Given the description of an element on the screen output the (x, y) to click on. 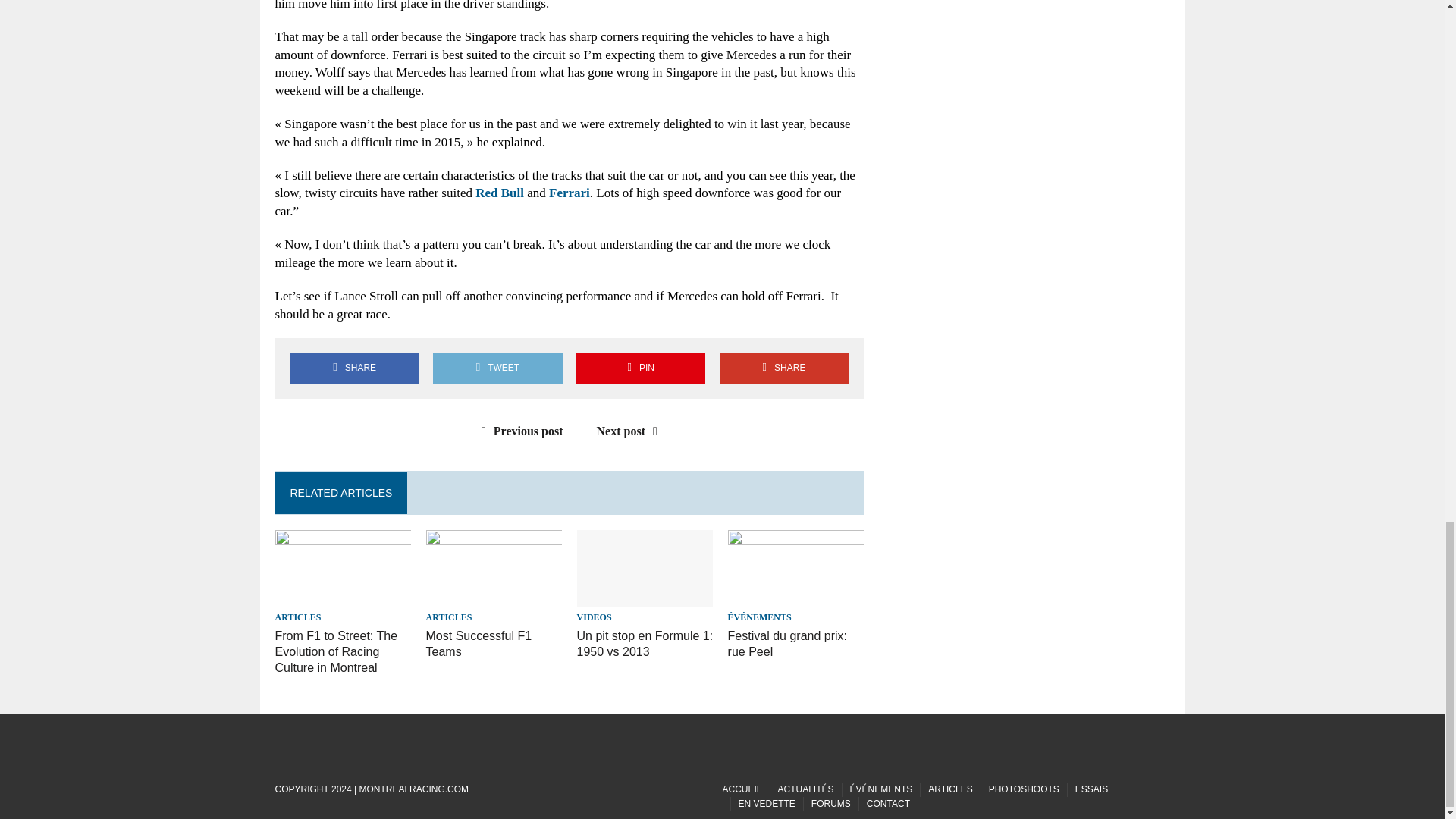
Un pit stop en Formule 1: 1950 vs 2013 (644, 643)
Previous post (518, 431)
SHARE (354, 367)
Most Successful F1 Teams (494, 595)
Red Bull (500, 192)
Most Successful F1 Teams (479, 643)
Next post (630, 431)
SHARE (783, 367)
Un pit stop en Formule 1: 1950 vs 2013 (644, 595)
Share on Facebook (354, 367)
